Given the description of an element on the screen output the (x, y) to click on. 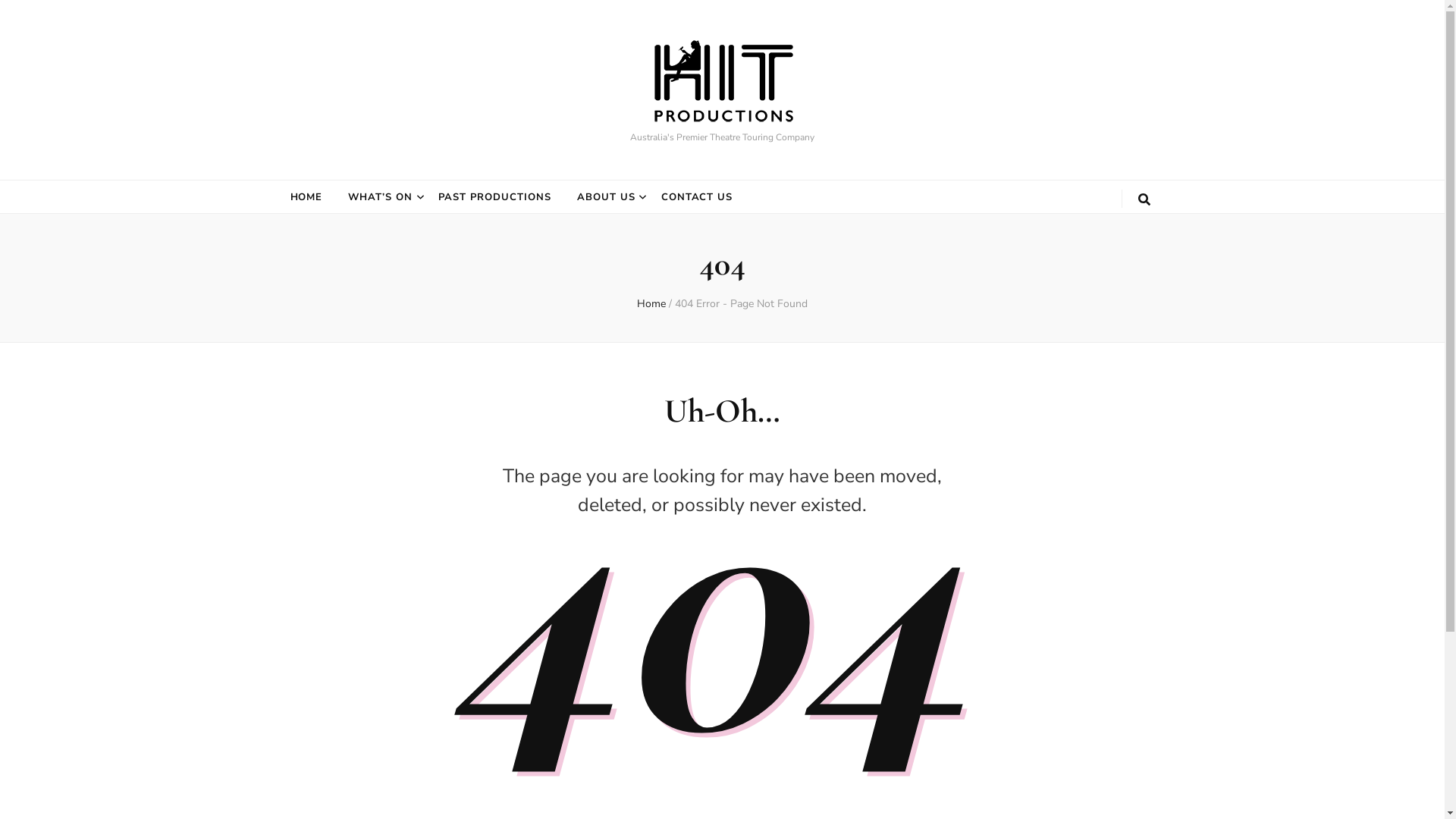
HOME Element type: text (305, 197)
Home Element type: text (651, 303)
ABOUT US Element type: text (606, 197)
CONTACT US Element type: text (697, 197)
PAST PRODUCTIONS Element type: text (494, 197)
